Given the description of an element on the screen output the (x, y) to click on. 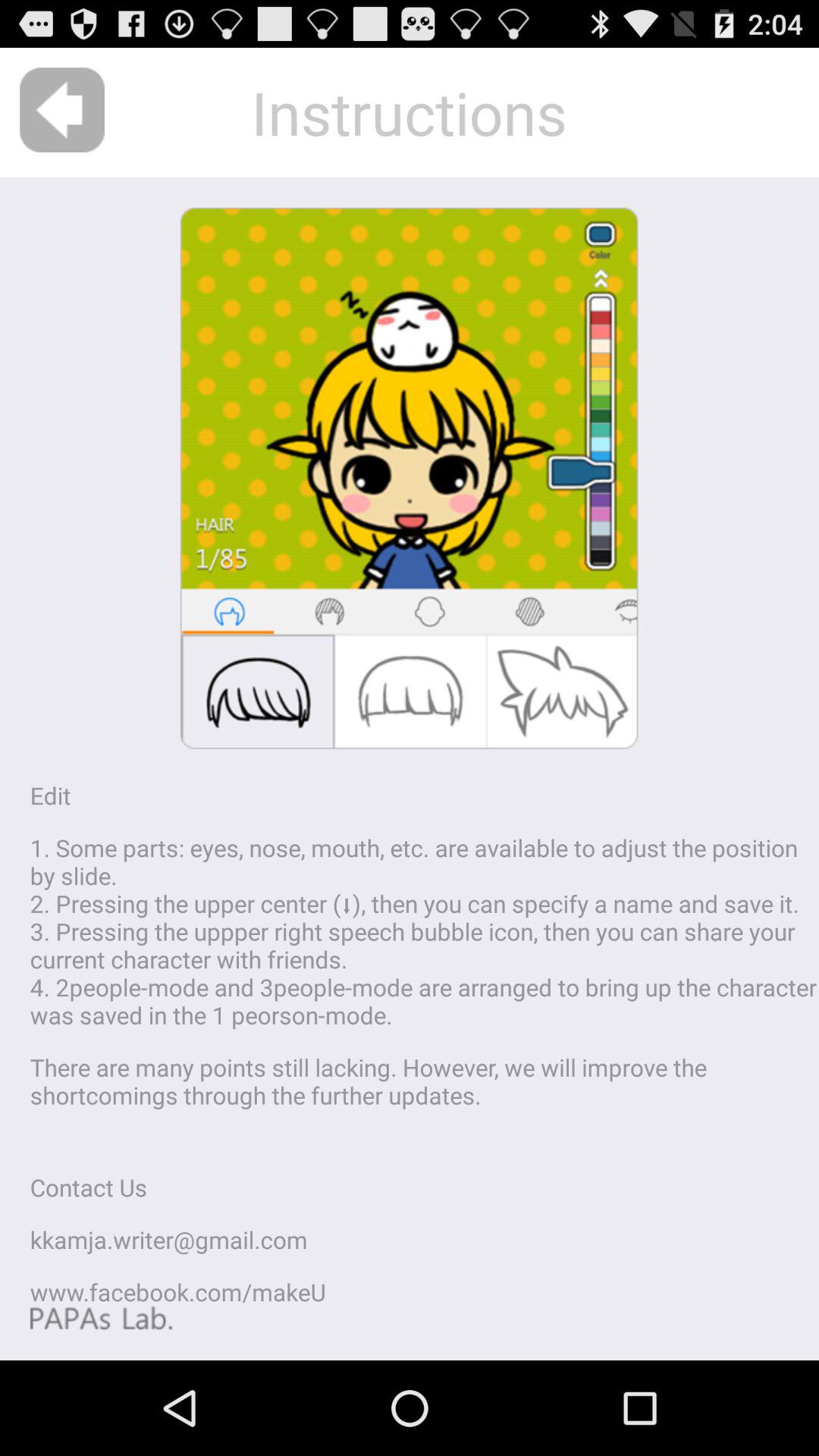
turn on the icon below kkamja writer gmail icon (177, 1291)
